Given the description of an element on the screen output the (x, y) to click on. 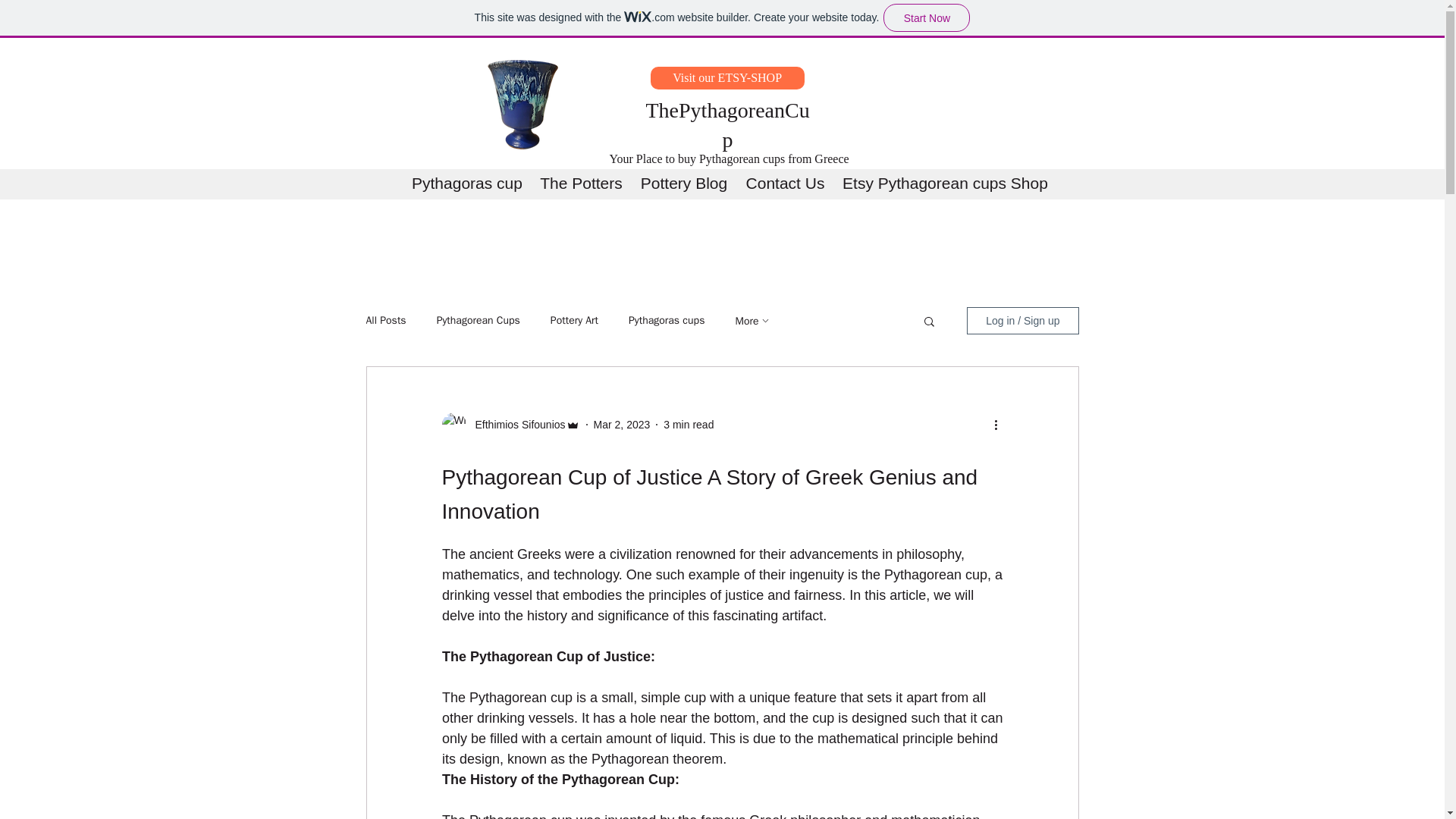
Etsy Pythagorean cups Shop (944, 179)
Pottery Blog (683, 179)
3 min read (688, 424)
ThePythagoreanCup (727, 124)
The Potters (580, 179)
Efthimios Sifounios (514, 424)
All Posts (385, 320)
Pottery Art (574, 320)
Mar 2, 2023 (622, 424)
Contact Us (784, 179)
